Given the description of an element on the screen output the (x, y) to click on. 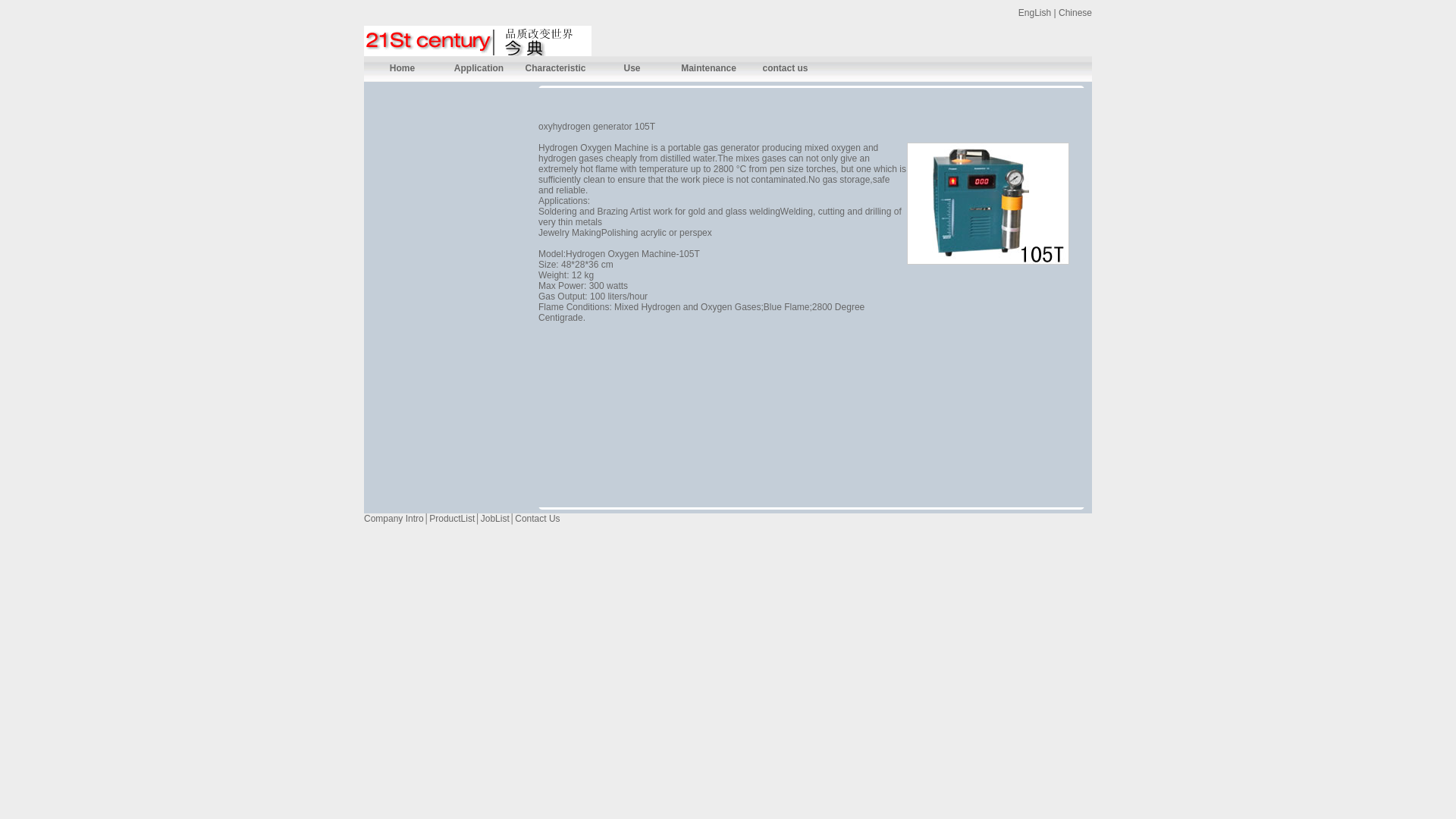
EngLish Element type: text (1034, 12)
contact us Element type: text (784, 68)
Company Intro Element type: text (393, 518)
Use Element type: text (631, 68)
Contact Us Element type: text (536, 518)
Chinese Element type: text (1075, 12)
Maintenance Element type: text (708, 68)
ProductList Element type: text (451, 518)
Home Element type: text (402, 68)
Application Element type: text (478, 68)
Characteristic Element type: text (555, 68)
